Given the description of an element on the screen output the (x, y) to click on. 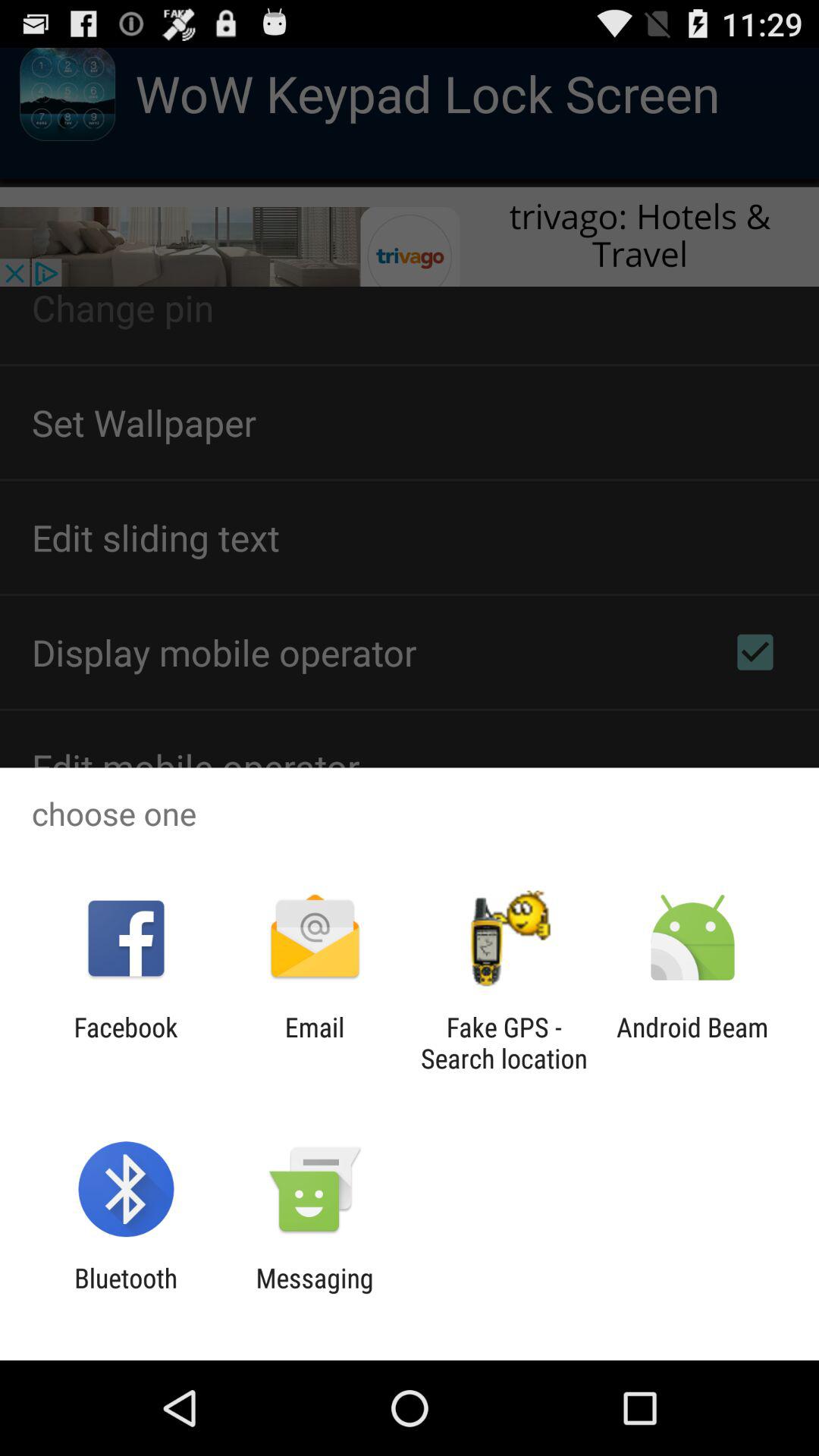
select the bluetooth item (125, 1293)
